Given the description of an element on the screen output the (x, y) to click on. 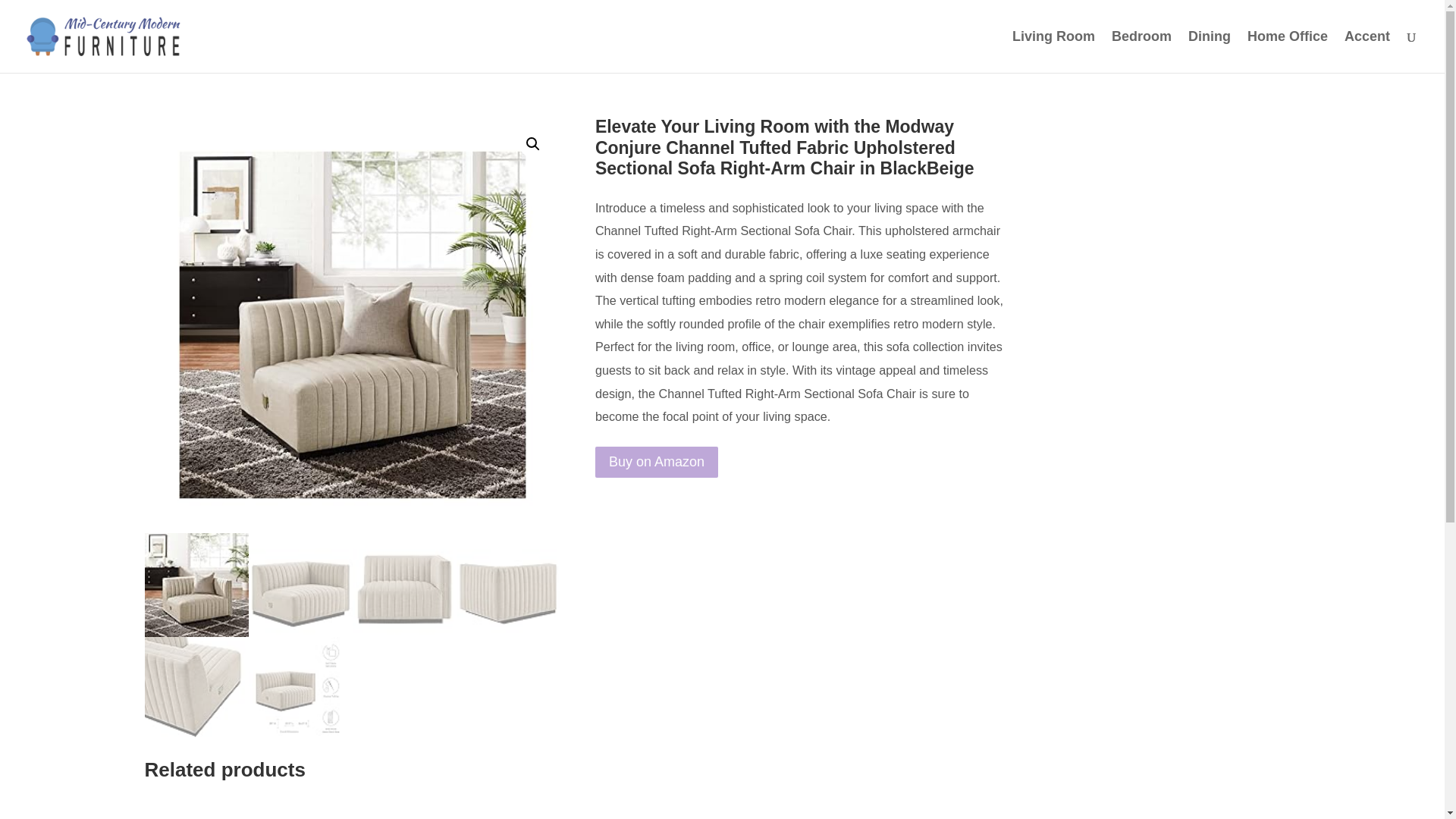
Buy on Amazon (656, 461)
Dining (1209, 51)
Bedroom (1142, 51)
Home Office (1287, 51)
Living Room (1052, 51)
Accent (1366, 51)
